Given the description of an element on the screen output the (x, y) to click on. 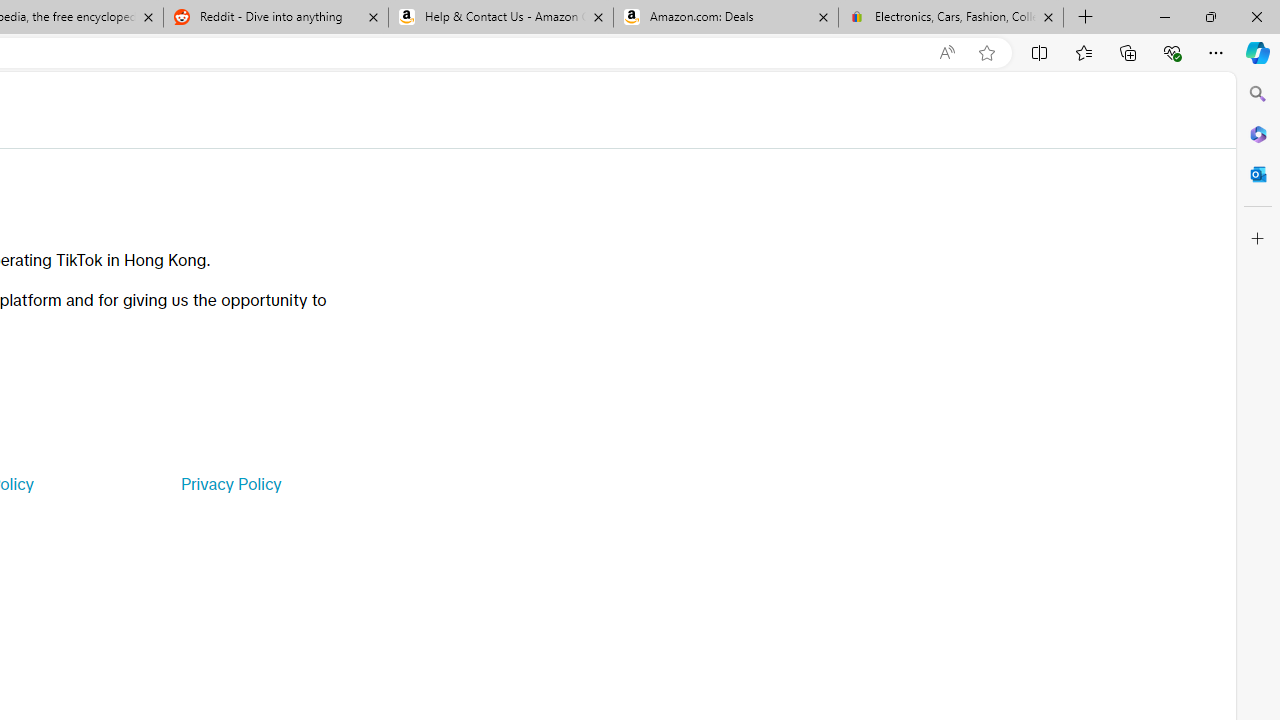
Privacy Policy (230, 484)
Help & Contact Us - Amazon Customer Service (501, 17)
